Given the description of an element on the screen output the (x, y) to click on. 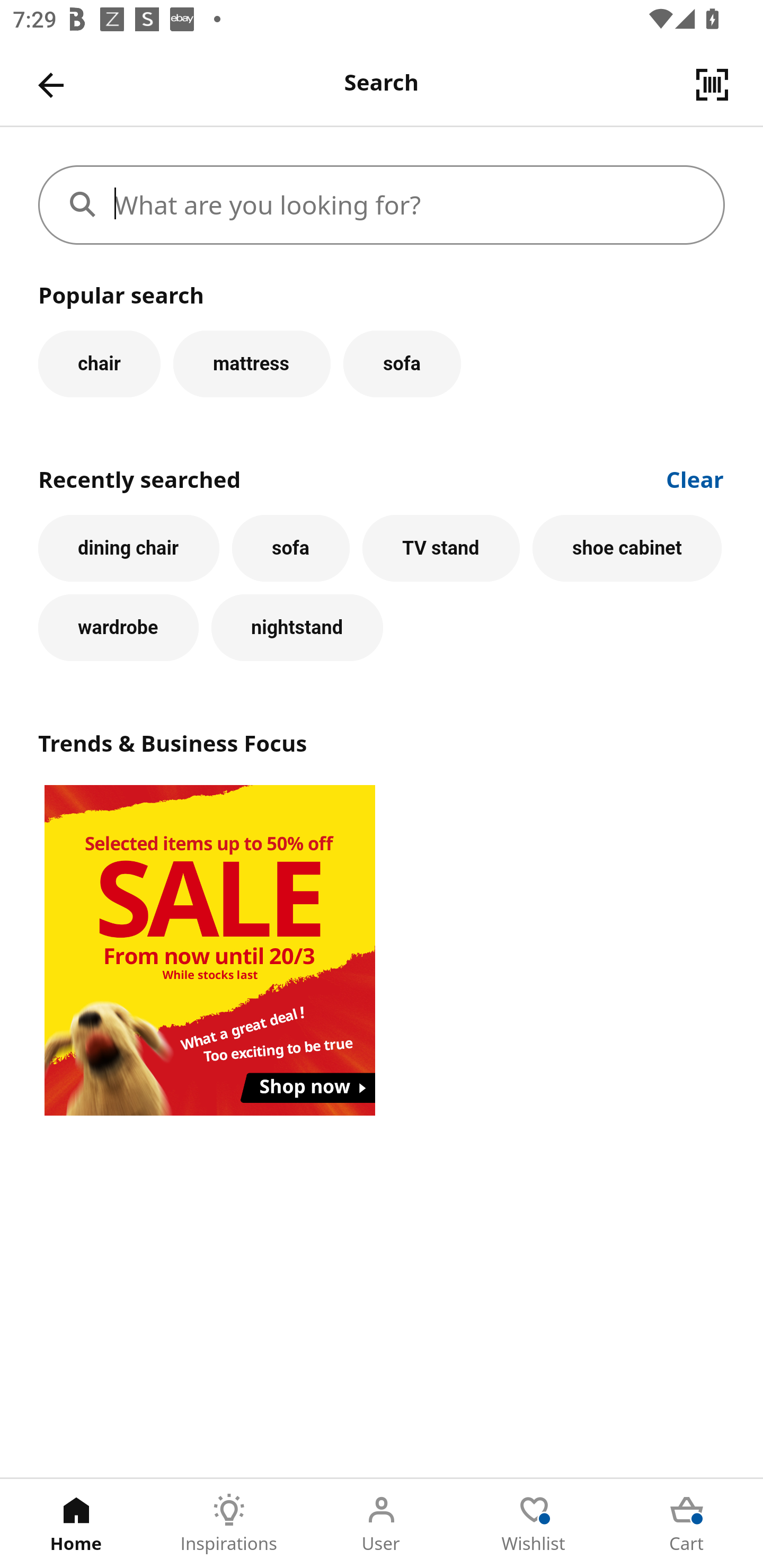
chair (99, 363)
mattress (251, 363)
sofa (401, 363)
Clear (695, 477)
dining chair (128, 547)
sofa (290, 547)
TV stand (440, 547)
shoe cabinet (626, 547)
wardrobe (118, 627)
nightstand (297, 627)
Home
Tab 1 of 5 (76, 1522)
Inspirations
Tab 2 of 5 (228, 1522)
User
Tab 3 of 5 (381, 1522)
Wishlist
Tab 4 of 5 (533, 1522)
Cart
Tab 5 of 5 (686, 1522)
